Given the description of an element on the screen output the (x, y) to click on. 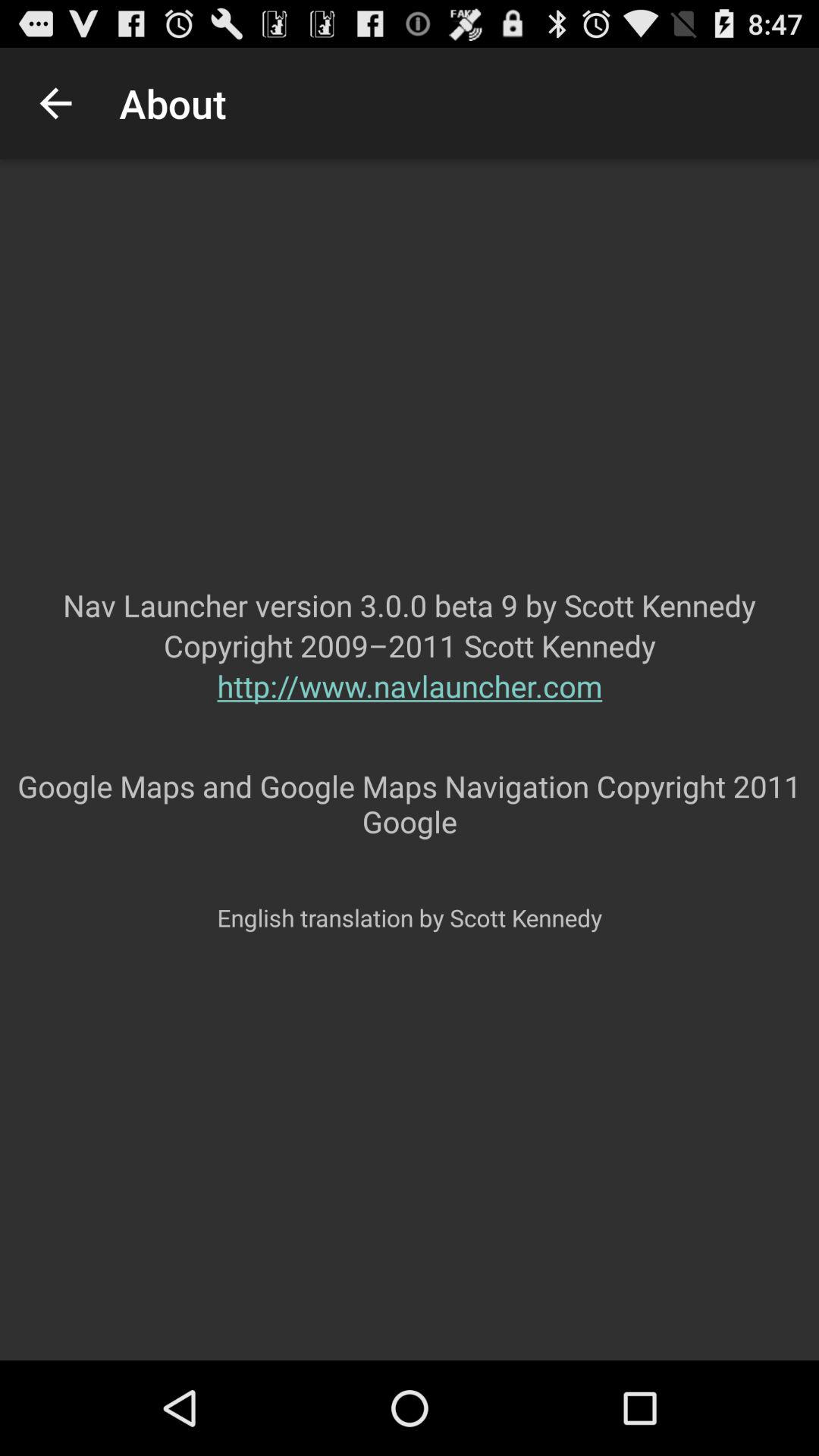
click the app above nav launcher version icon (55, 103)
